Given the description of an element on the screen output the (x, y) to click on. 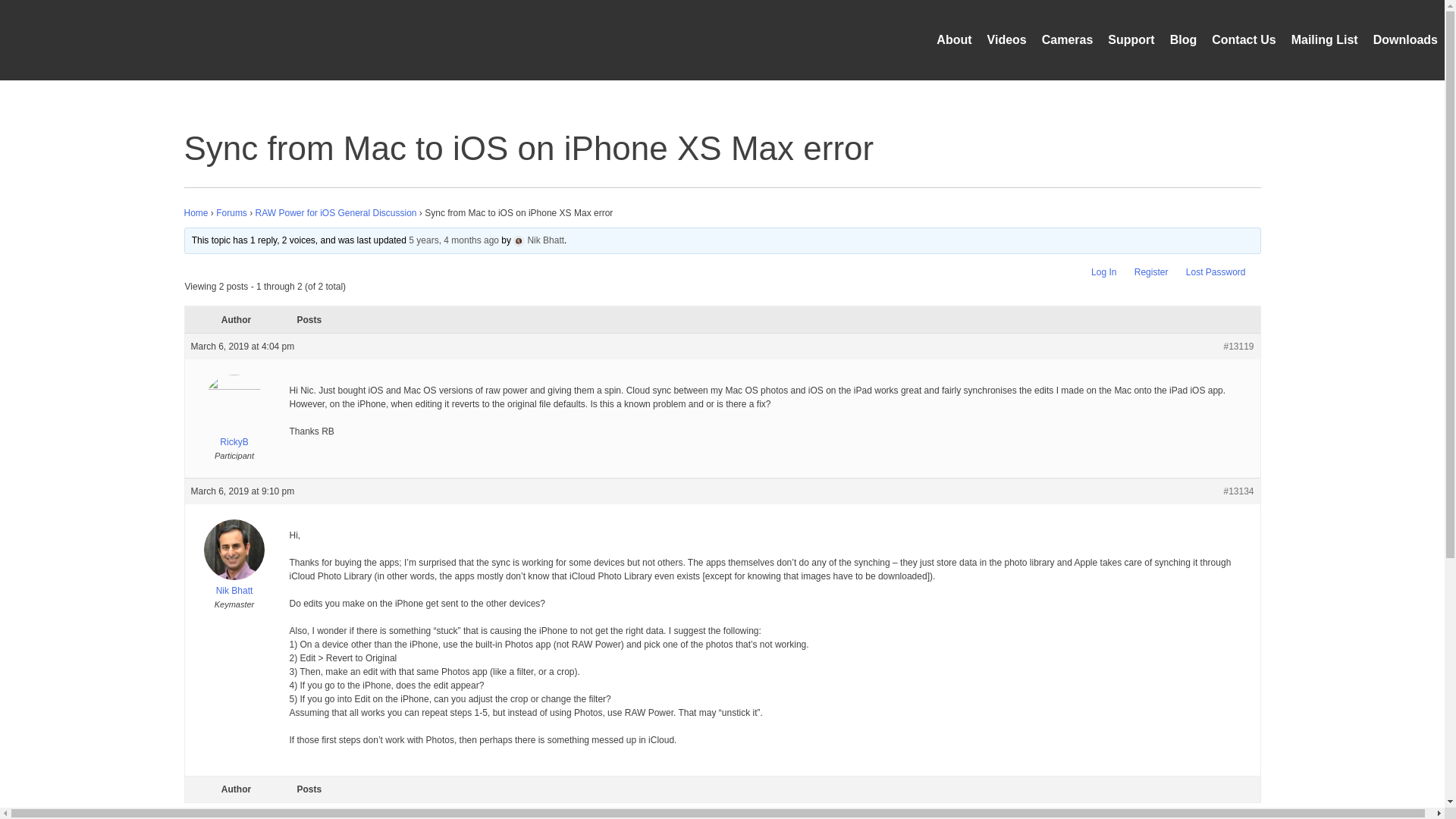
Support (1131, 40)
Downloads (1405, 40)
Contact Us (1243, 40)
Videos (1006, 40)
Lost Password (1216, 271)
5 years, 4 months ago (454, 240)
Cameras (1067, 40)
View Nik Bhatt's profile (234, 584)
About (953, 40)
Reply To: Sync from Mac to iOS on iPhone XS Max error (454, 240)
RickyB (234, 414)
Log In (1103, 271)
Home (195, 213)
Nik Bhatt (234, 584)
View RickyB's profile (234, 414)
